Given the description of an element on the screen output the (x, y) to click on. 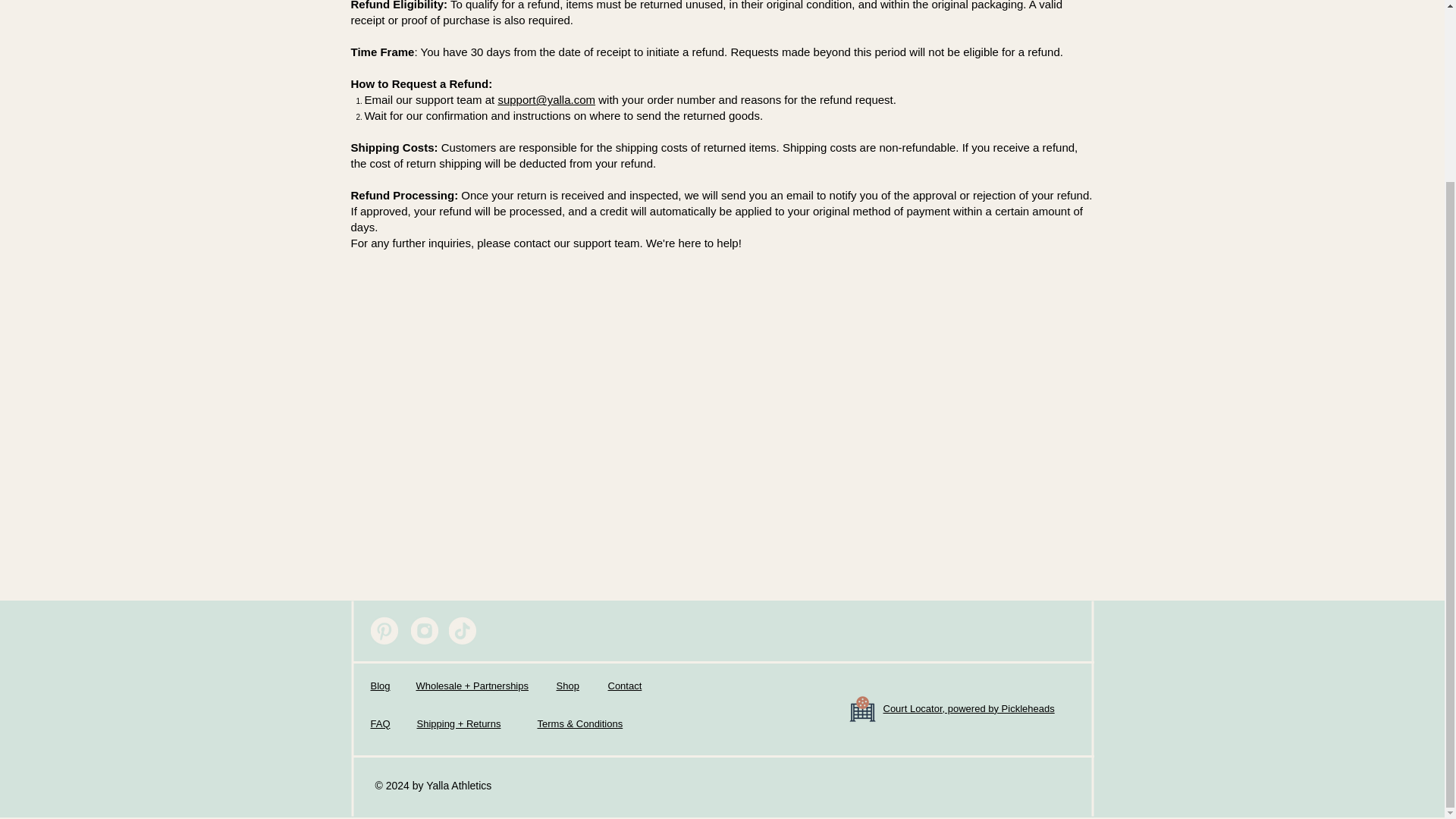
Shop (567, 685)
Blog (379, 685)
FAQ (379, 723)
Contact (625, 685)
Court Locator, powered by Pickleheads (968, 708)
